Given the description of an element on the screen output the (x, y) to click on. 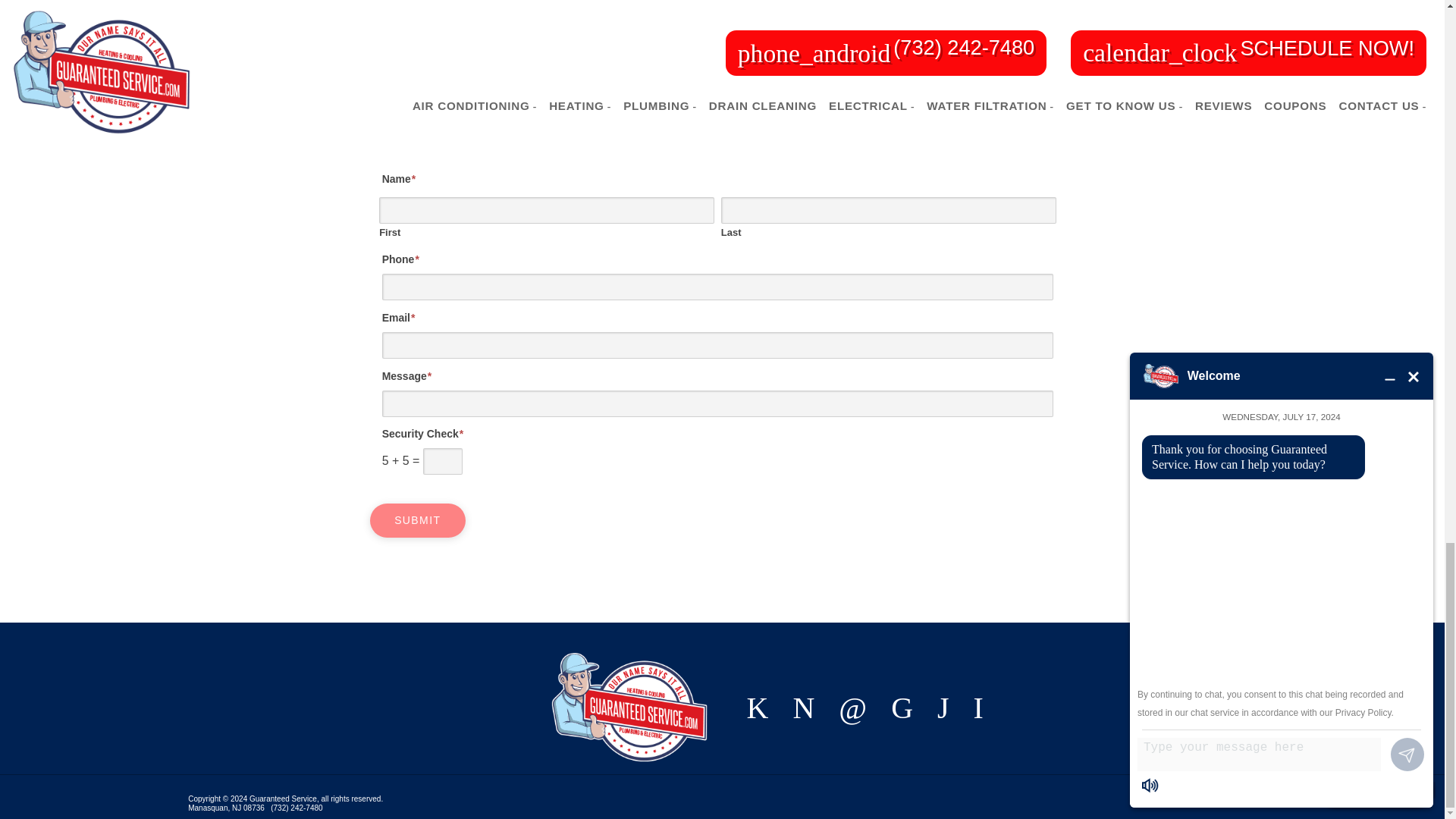
Twitter (901, 706)
Guaranteed Service (629, 707)
Facebook (756, 706)
Google (852, 706)
LinkedIn (943, 706)
Submit (417, 520)
YouTube (802, 706)
